Given the description of an element on the screen output the (x, y) to click on. 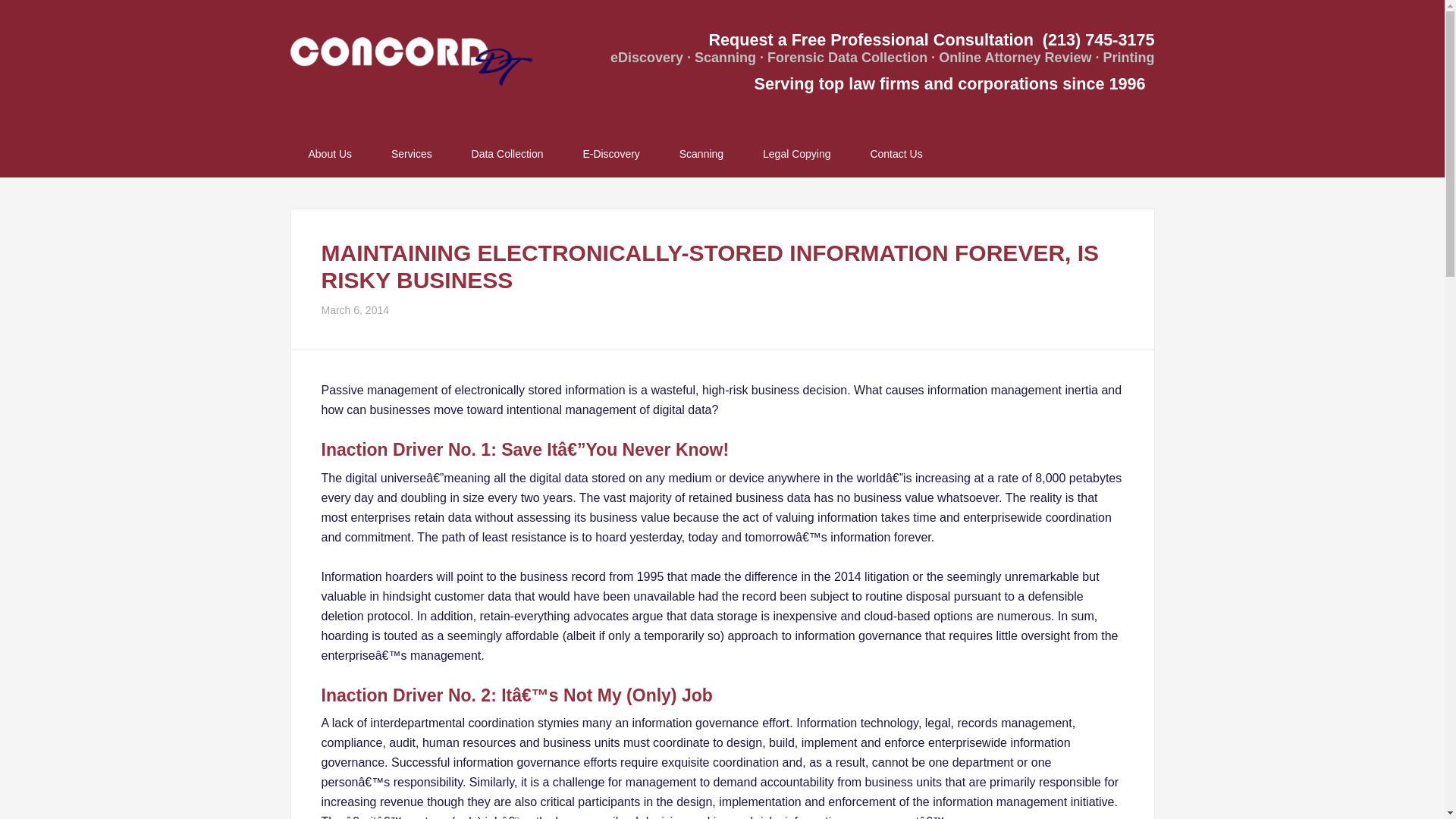
Legal Copying (796, 154)
Data Collection (507, 154)
About Us (329, 154)
Contact Us (895, 154)
Services (410, 154)
Scanning (701, 154)
E-Discovery (611, 154)
